Given the description of an element on the screen output the (x, y) to click on. 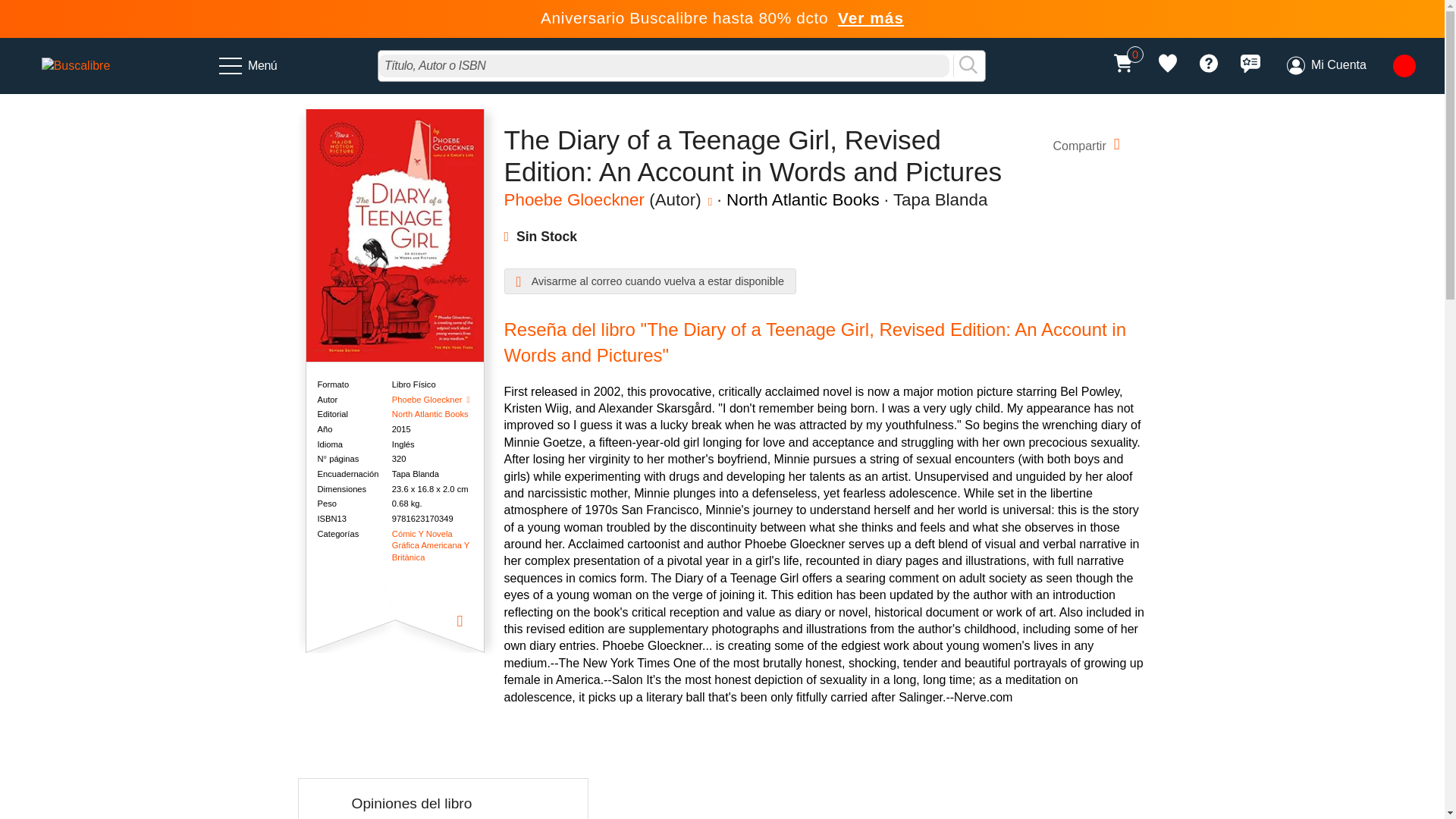
Mi Cuenta (1326, 64)
Mi Cuenta (1326, 64)
Buscalibre.com (75, 65)
Buscar (968, 65)
